Given the description of an element on the screen output the (x, y) to click on. 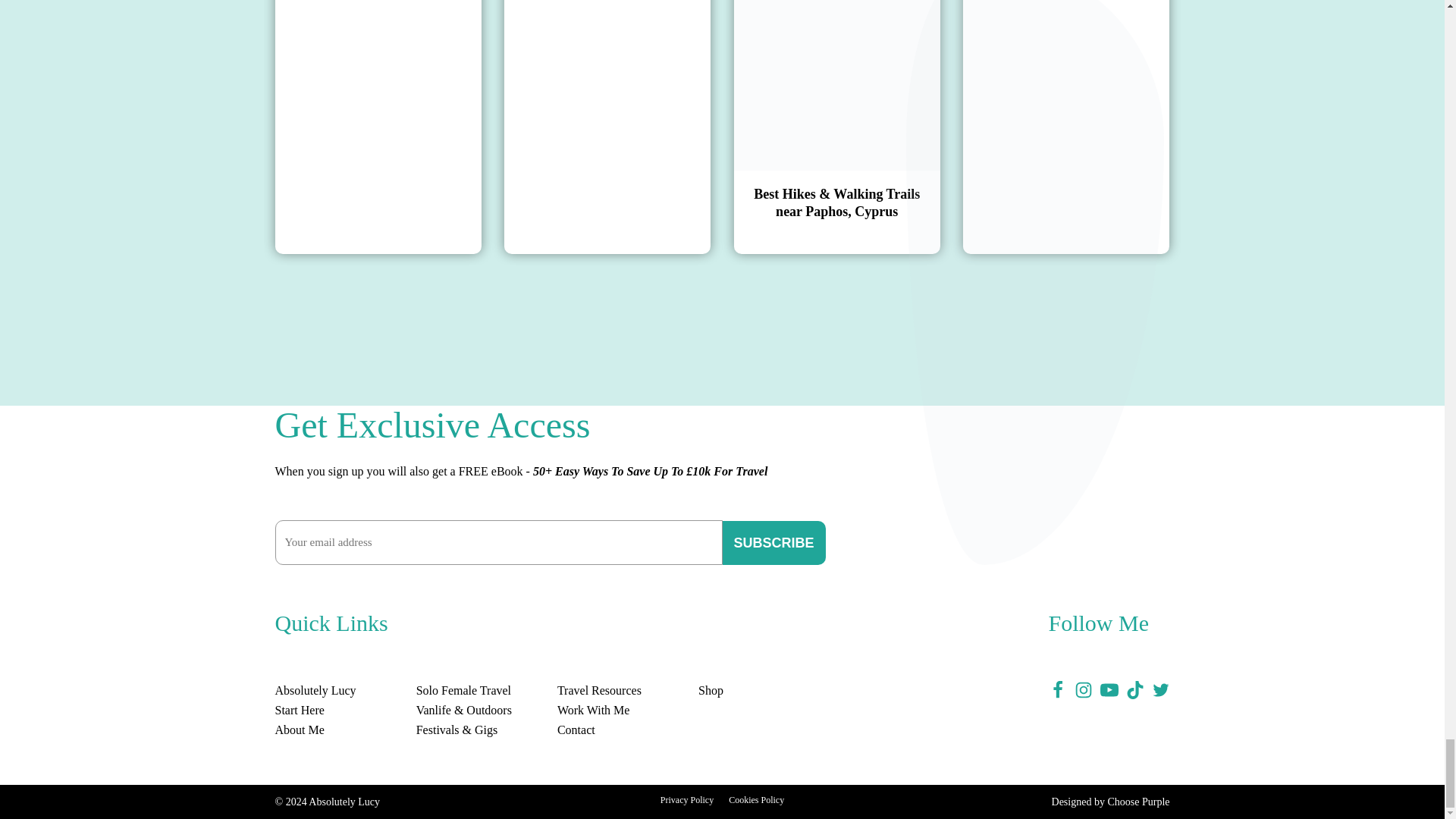
Subscribe (773, 542)
